Given the description of an element on the screen output the (x, y) to click on. 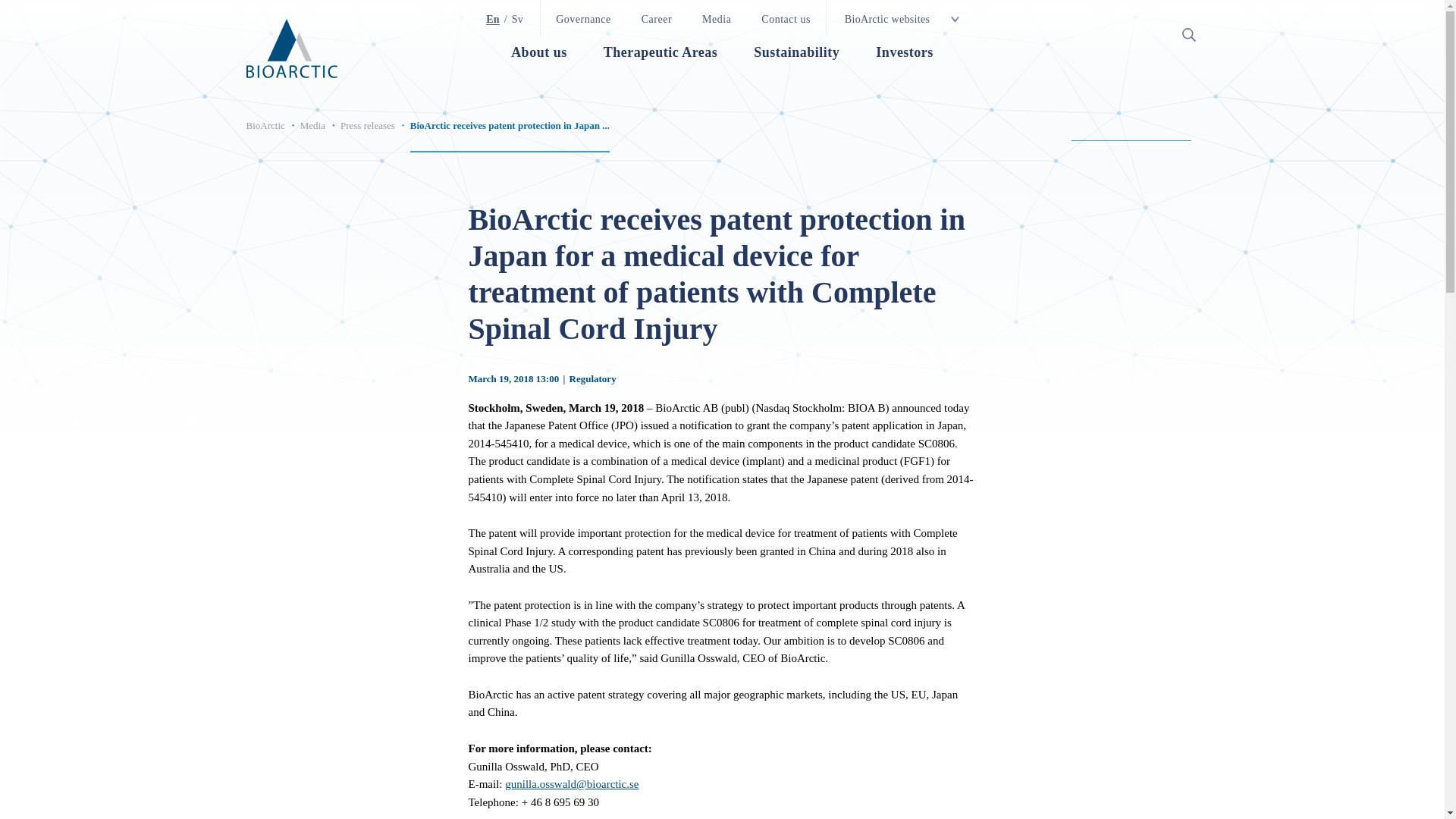
Governance (583, 17)
Career (656, 17)
Media (716, 17)
